Given the description of an element on the screen output the (x, y) to click on. 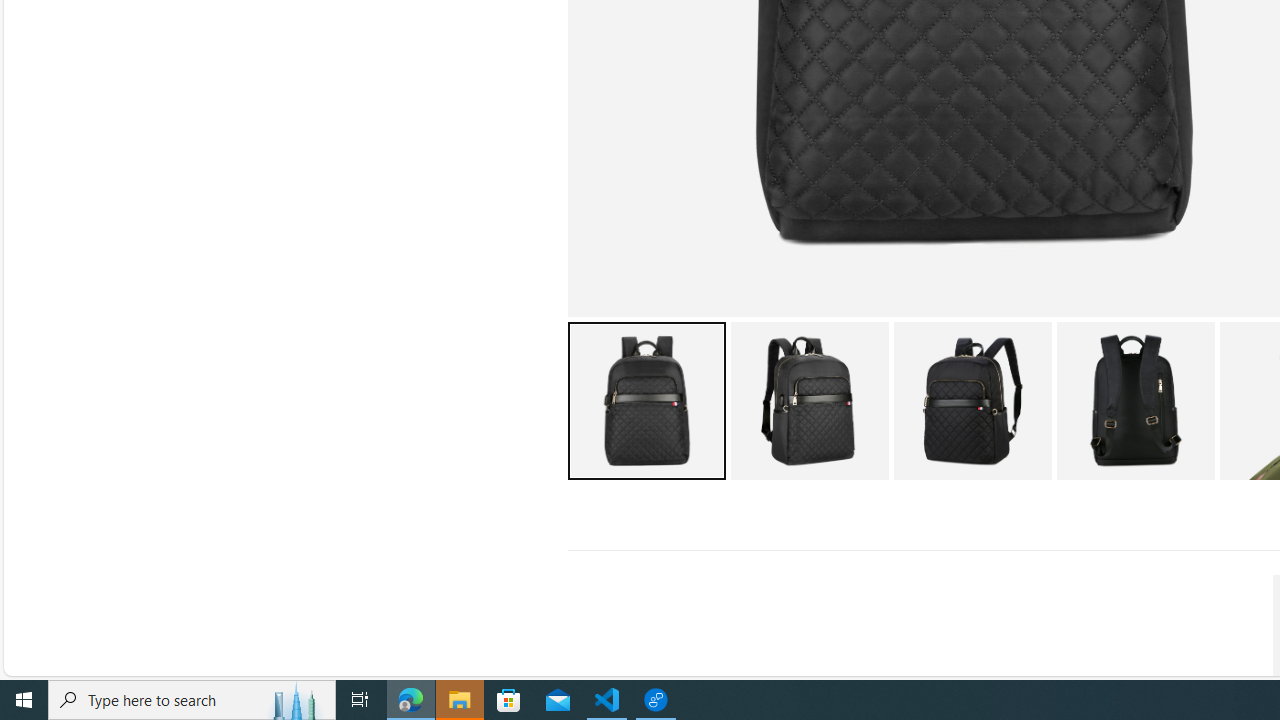
Microsoft Edge - 1 running window (411, 699)
File Explorer - 1 running window (460, 699)
Type here to search (191, 699)
Edge Feedback - 1 running window (656, 699)
Start (24, 699)
Task View (359, 699)
Microsoft Store (509, 699)
Nordace Ellie - Daily Backpack (1135, 400)
Search highlights icon opens search home window (295, 699)
Visual Studio Code - 1 running window (607, 699)
